Given the description of an element on the screen output the (x, y) to click on. 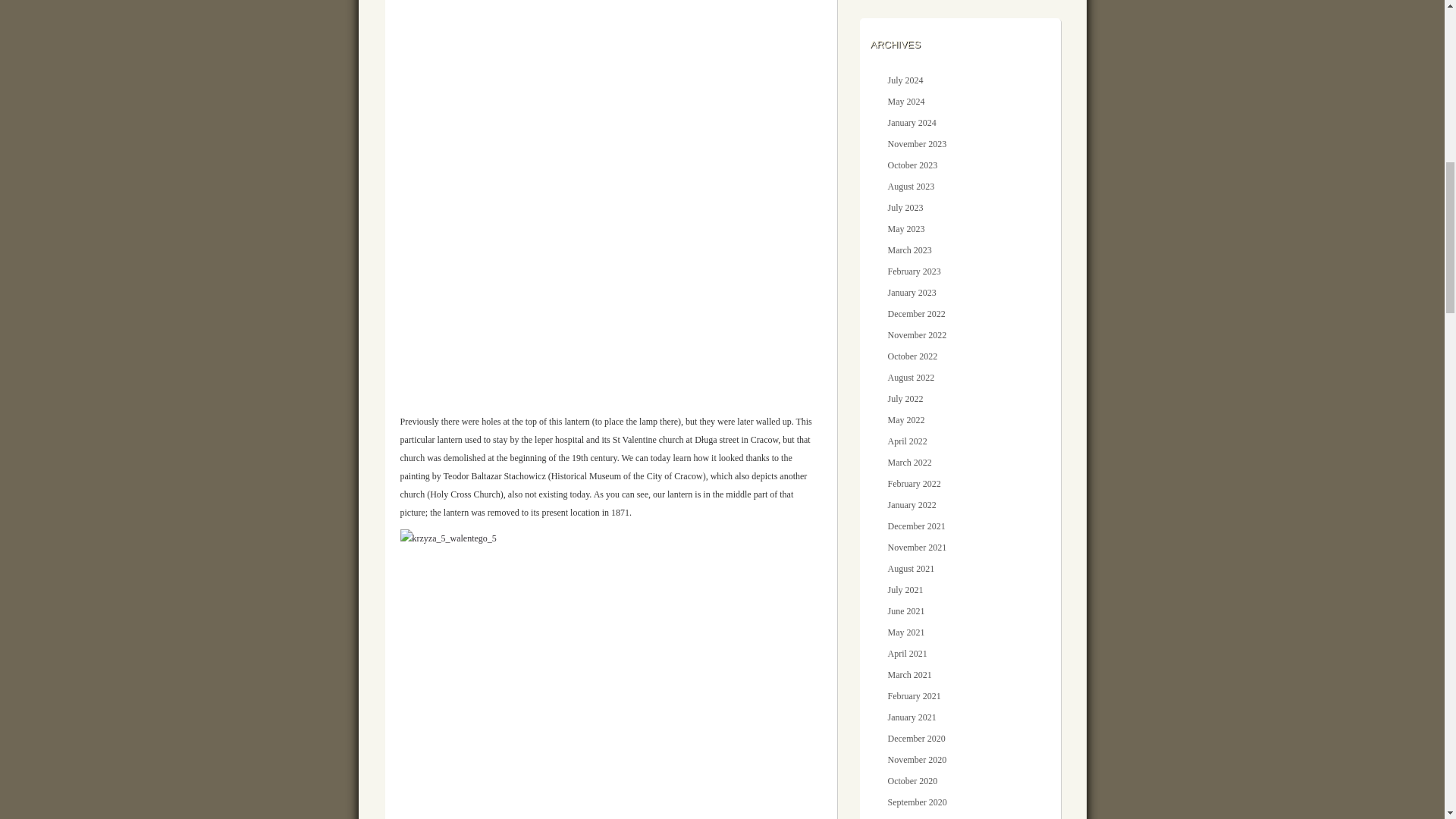
January 2024 (911, 122)
November 2023 (916, 143)
May 2024 (905, 101)
July 2024 (904, 80)
October 2023 (911, 164)
August 2023 (910, 185)
